Given the description of an element on the screen output the (x, y) to click on. 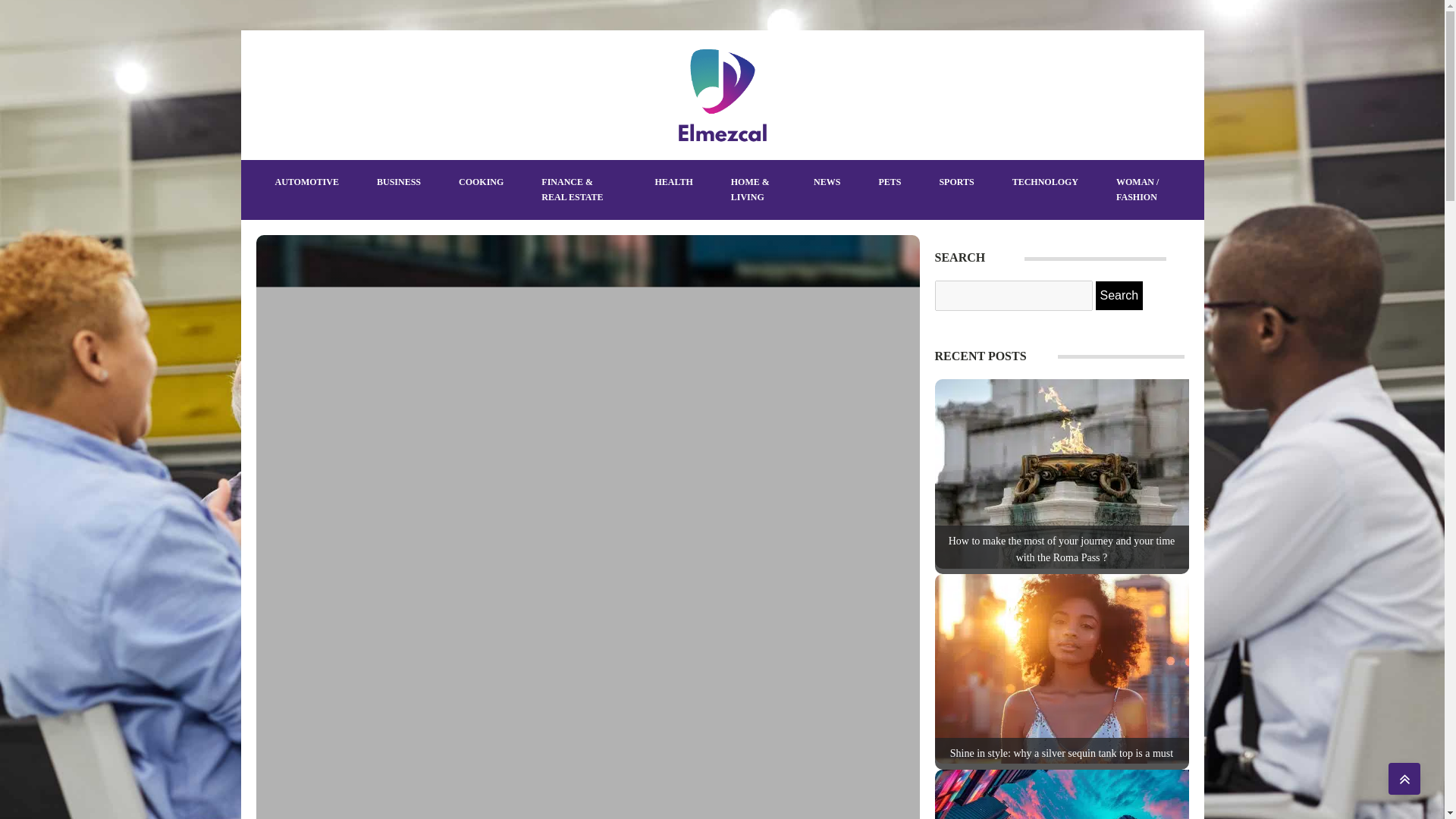
BUSINESS (398, 181)
NEWS (826, 181)
COOKING (480, 181)
HEALTH (672, 181)
SPORTS (956, 181)
AUTOMOTIVE (307, 181)
PETS (889, 181)
